Given the description of an element on the screen output the (x, y) to click on. 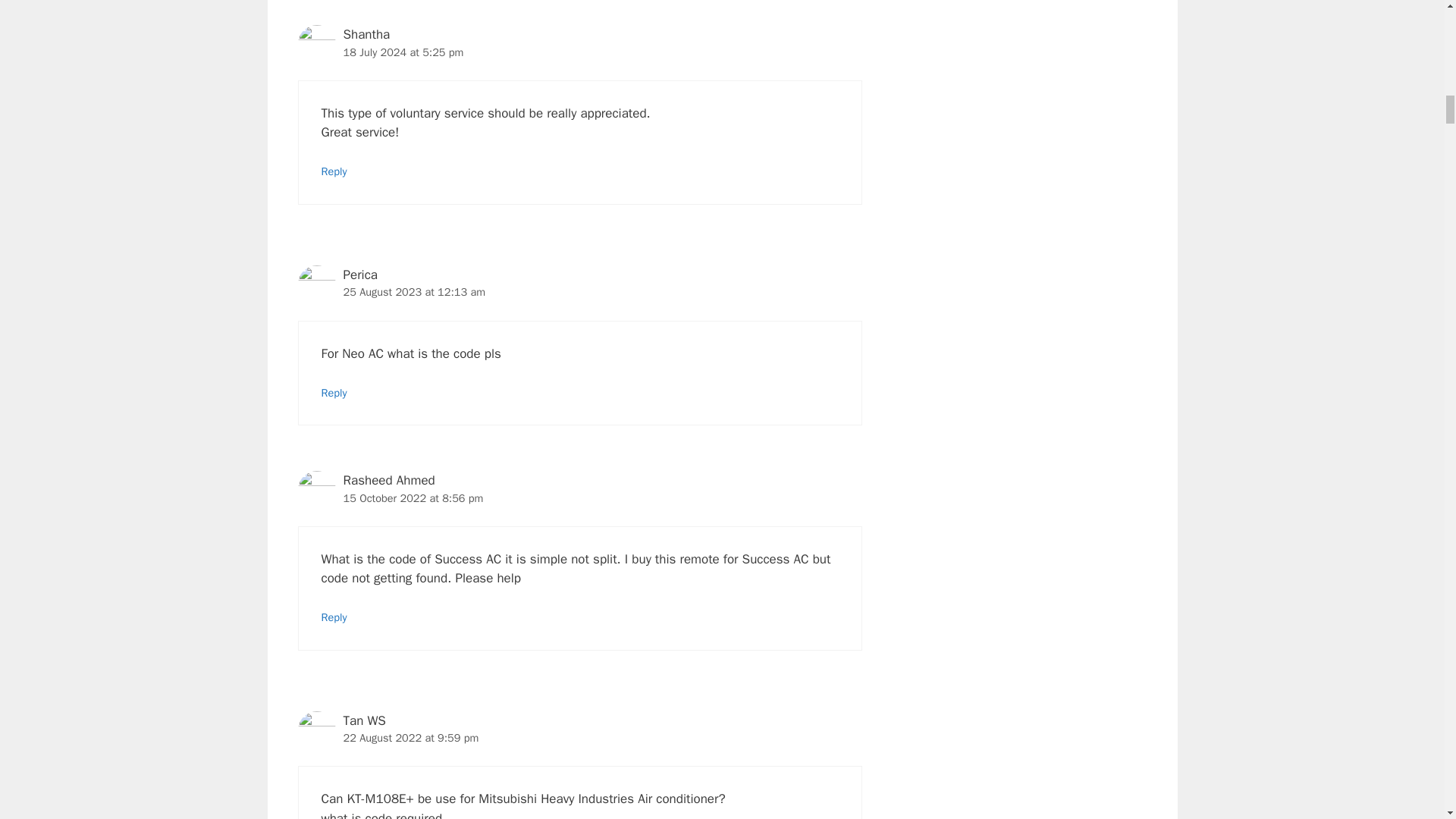
Reply (334, 617)
Reply (334, 392)
15 October 2022 at 8:56 pm (412, 498)
18 July 2024 at 5:25 pm (402, 51)
25 August 2023 at 12:13 am (413, 291)
Reply (334, 171)
